Given the description of an element on the screen output the (x, y) to click on. 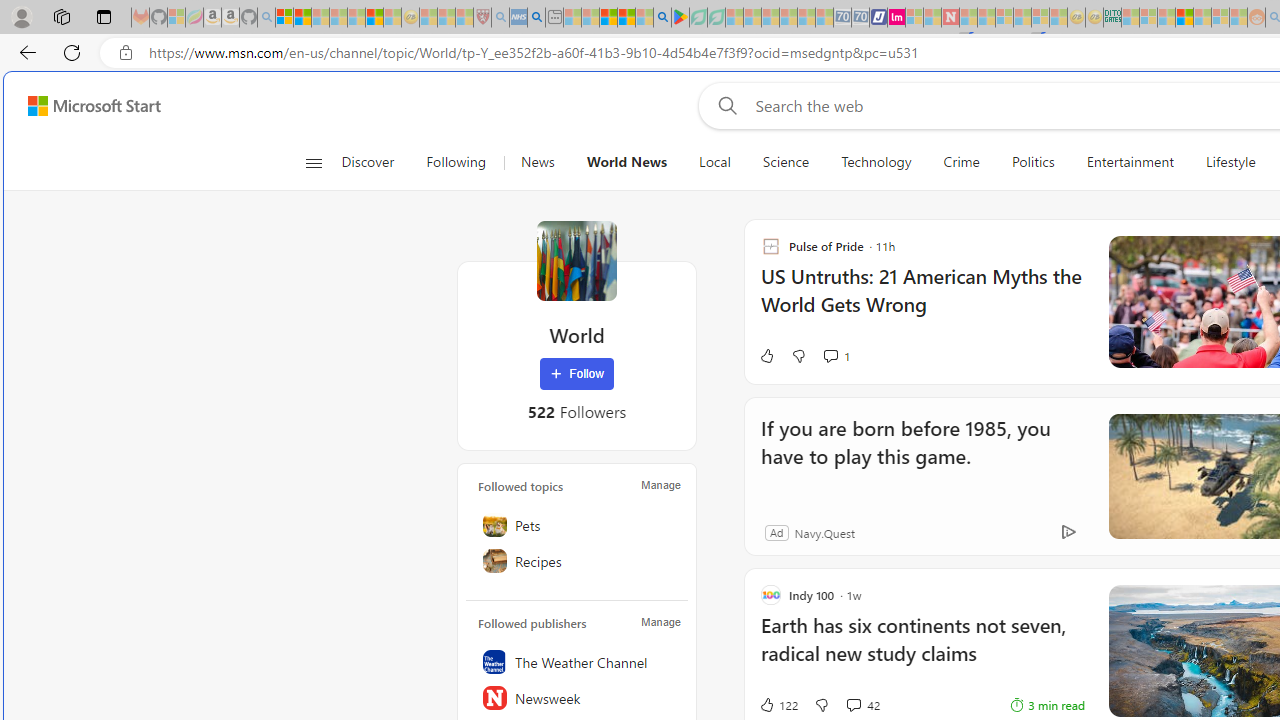
Pets - MSN (626, 17)
Earth has six continents not seven, radical new study claims (922, 650)
